Given the description of an element on the screen output the (x, y) to click on. 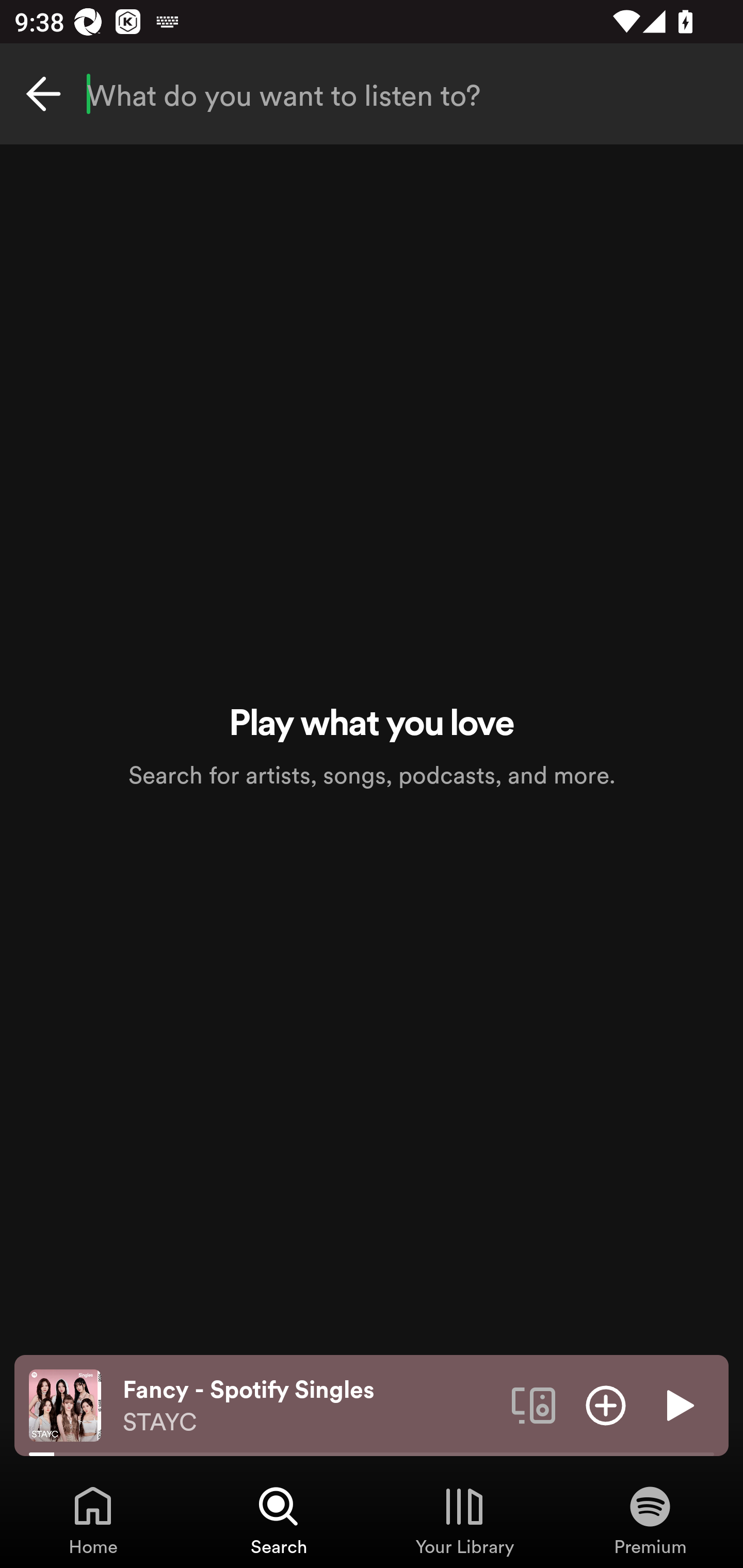
What do you want to listen to? (371, 93)
Cancel (43, 93)
Fancy - Spotify Singles STAYC (309, 1405)
The cover art of the currently playing track (64, 1404)
Connect to a device. Opens the devices menu (533, 1404)
Add item (605, 1404)
Play (677, 1404)
Home, Tab 1 of 4 Home Home (92, 1519)
Search, Tab 2 of 4 Search Search (278, 1519)
Your Library, Tab 3 of 4 Your Library Your Library (464, 1519)
Premium, Tab 4 of 4 Premium Premium (650, 1519)
